Given the description of an element on the screen output the (x, y) to click on. 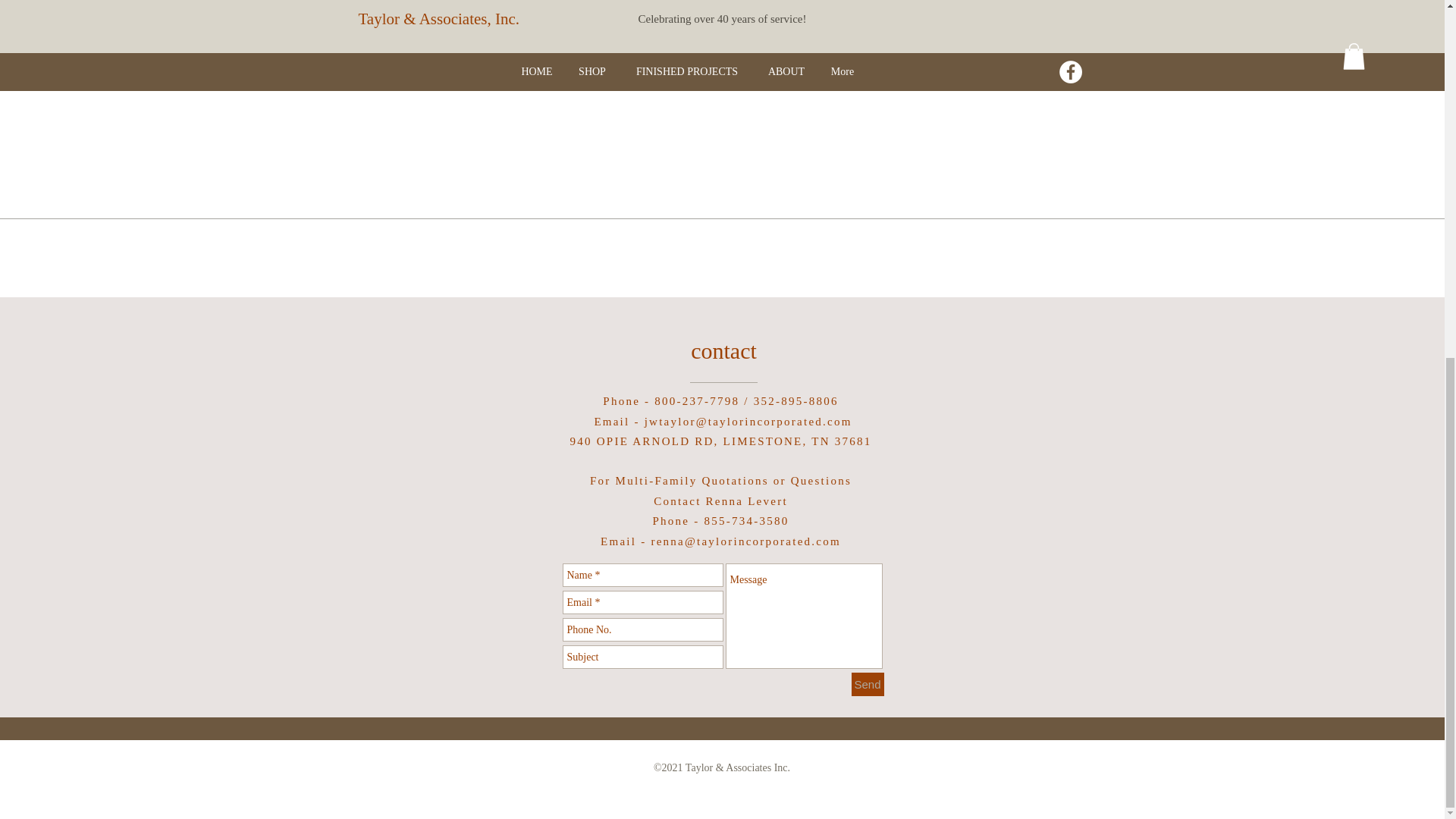
Send (866, 684)
